Given the description of an element on the screen output the (x, y) to click on. 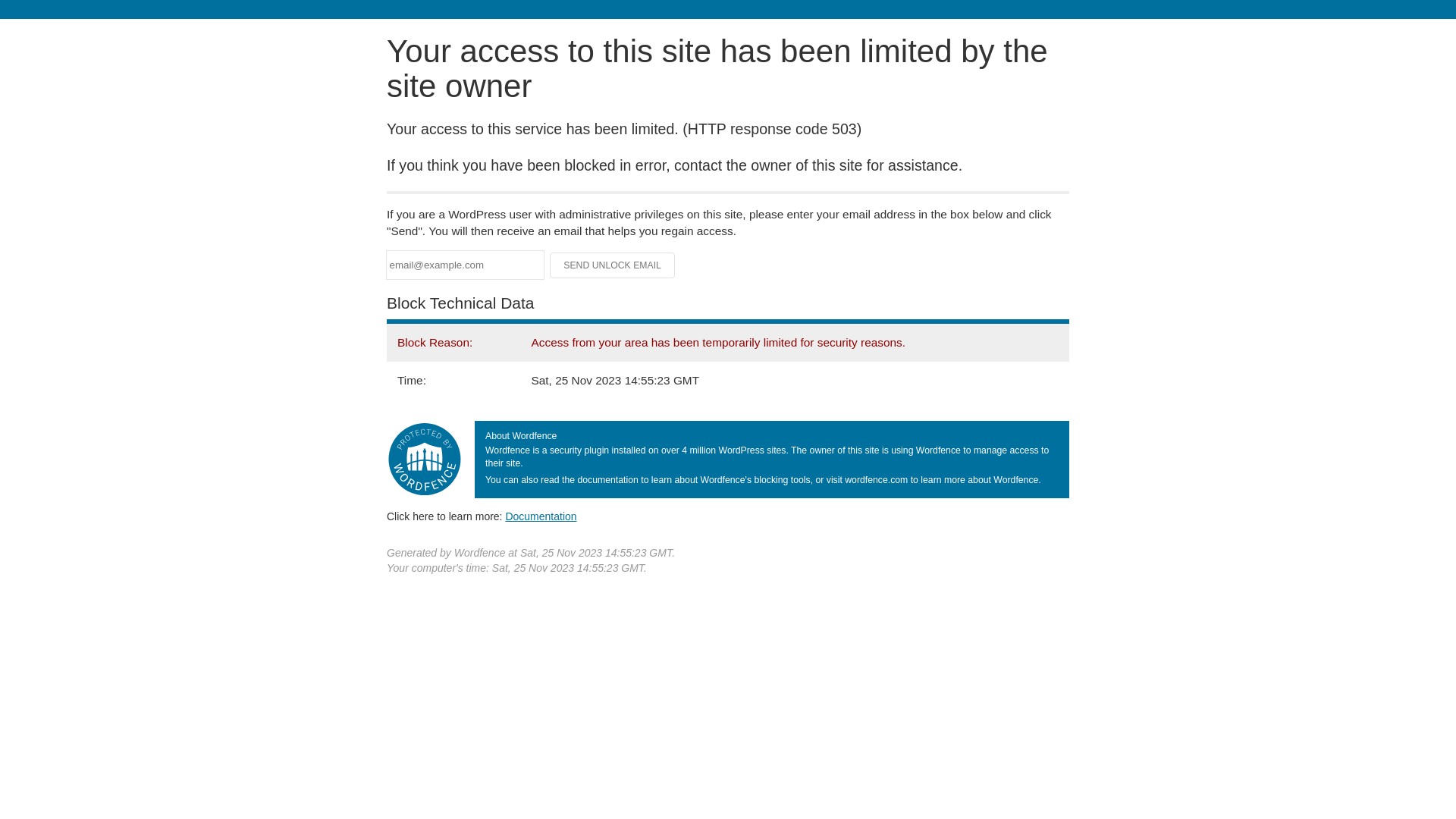
Documentation Element type: text (540, 516)
Send Unlock Email Element type: text (612, 265)
